Given the description of an element on the screen output the (x, y) to click on. 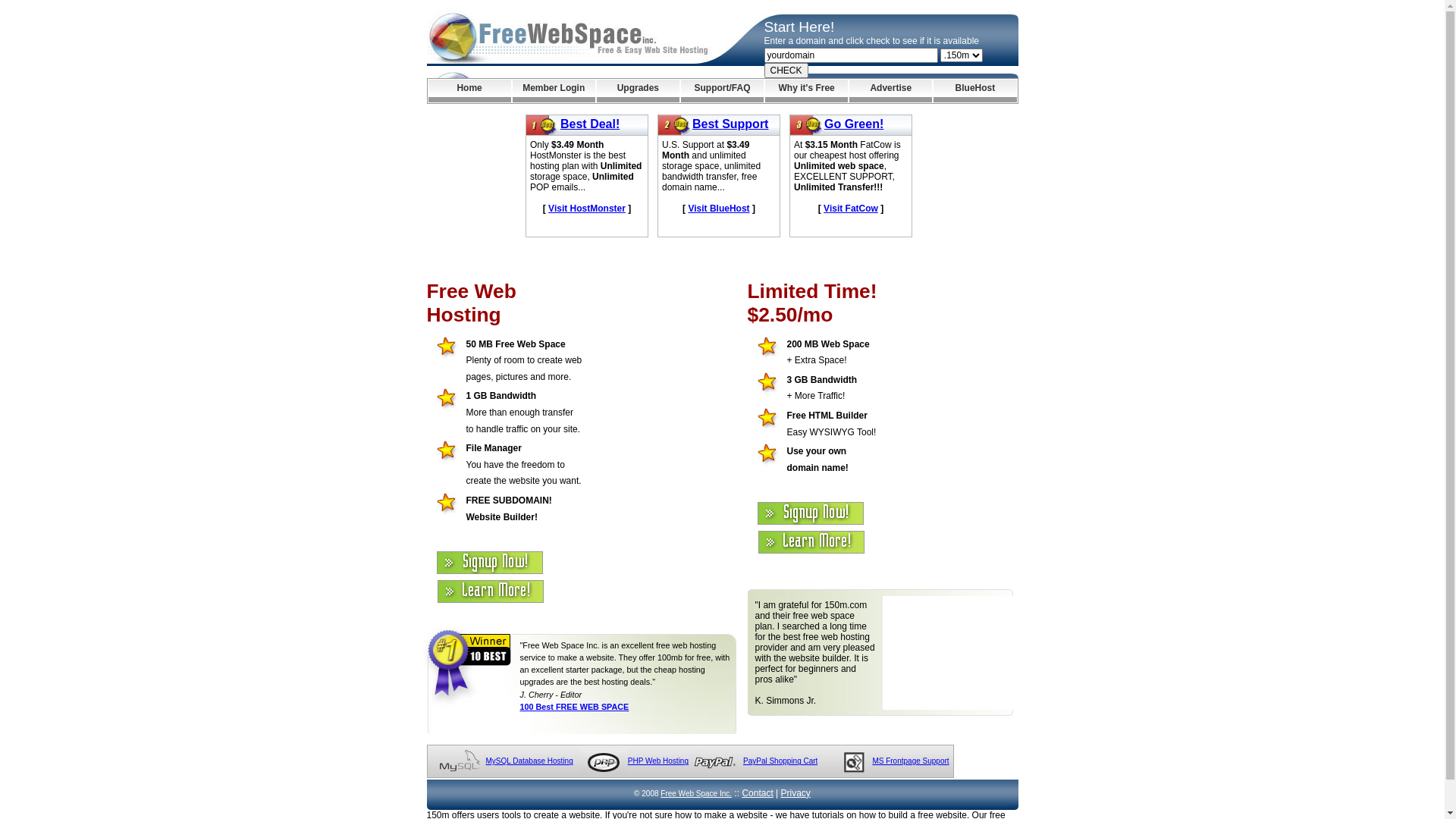
MySQL Database Hosting Element type: text (528, 760)
CHECK Element type: text (786, 70)
100 Best FREE WEB SPACE Element type: text (574, 706)
Upgrades Element type: text (637, 90)
Contact Element type: text (756, 792)
Support/FAQ Element type: text (721, 90)
PHP Web Hosting Element type: text (657, 760)
MS Frontpage Support Element type: text (910, 760)
BlueHost Element type: text (974, 90)
Free Web Space Inc. Element type: text (695, 793)
Advertise Element type: text (890, 90)
Member Login Element type: text (553, 90)
PayPal Shopping Cart Element type: text (780, 760)
Home Element type: text (468, 90)
Why it's Free Element type: text (806, 90)
Privacy Element type: text (795, 792)
